Given the description of an element on the screen output the (x, y) to click on. 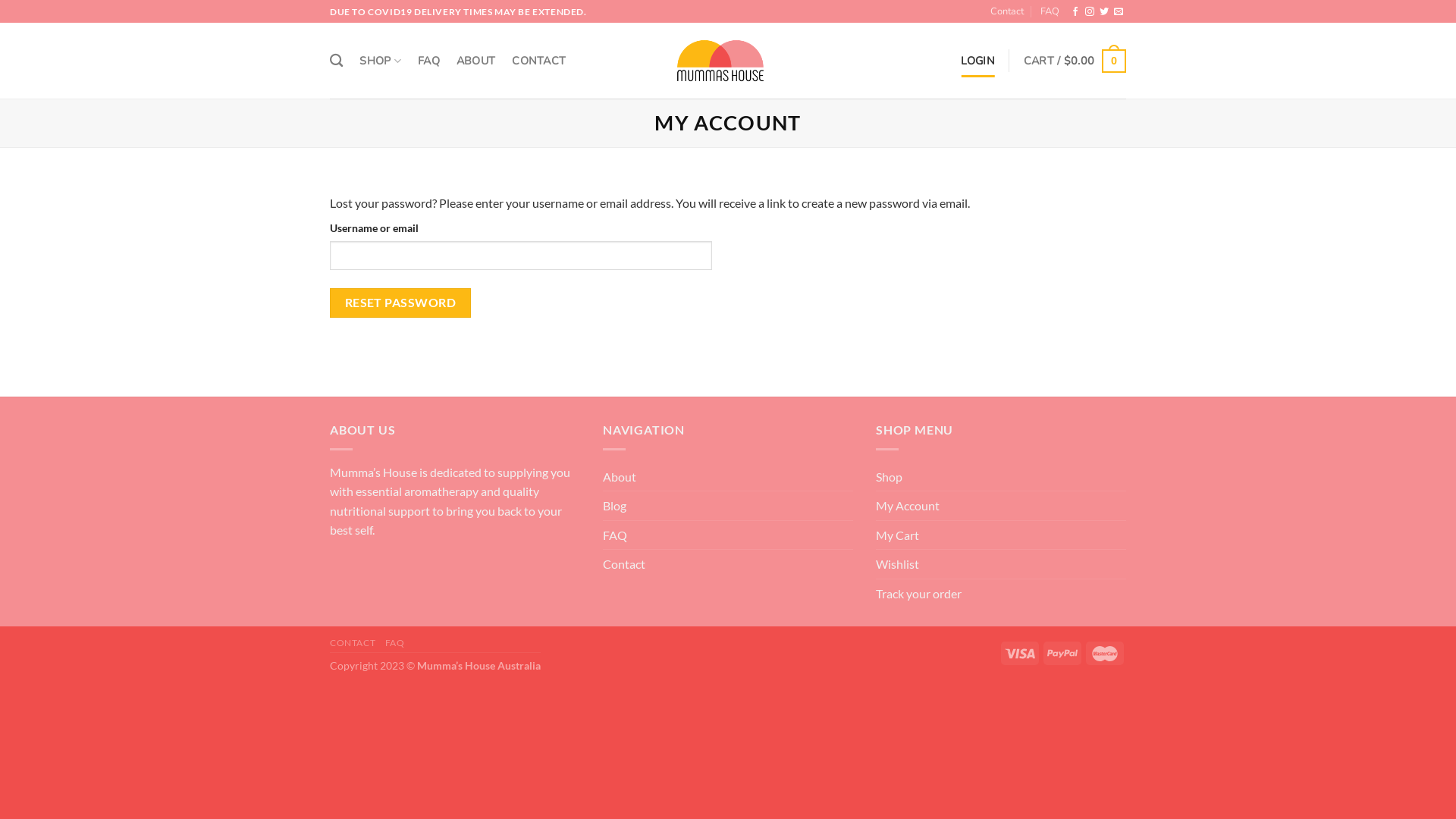
ABOUT Element type: text (475, 60)
My Cart Element type: text (897, 534)
FAQ Element type: text (394, 642)
CONTACT Element type: text (352, 642)
About Element type: text (619, 476)
Shop Element type: text (888, 476)
Blog Element type: text (614, 505)
FAQ Element type: text (1049, 11)
LOGIN Element type: text (977, 60)
Track your order Element type: text (918, 593)
Contact Element type: text (1006, 11)
SHOP Element type: text (380, 60)
RESET PASSWORD Element type: text (399, 302)
FAQ Element type: text (428, 60)
CART / $0.00
0 Element type: text (1074, 60)
Wishlist Element type: text (897, 563)
FAQ Element type: text (614, 534)
My Account Element type: text (907, 505)
CONTACT Element type: text (538, 60)
Contact Element type: text (623, 563)
